Given the description of an element on the screen output the (x, y) to click on. 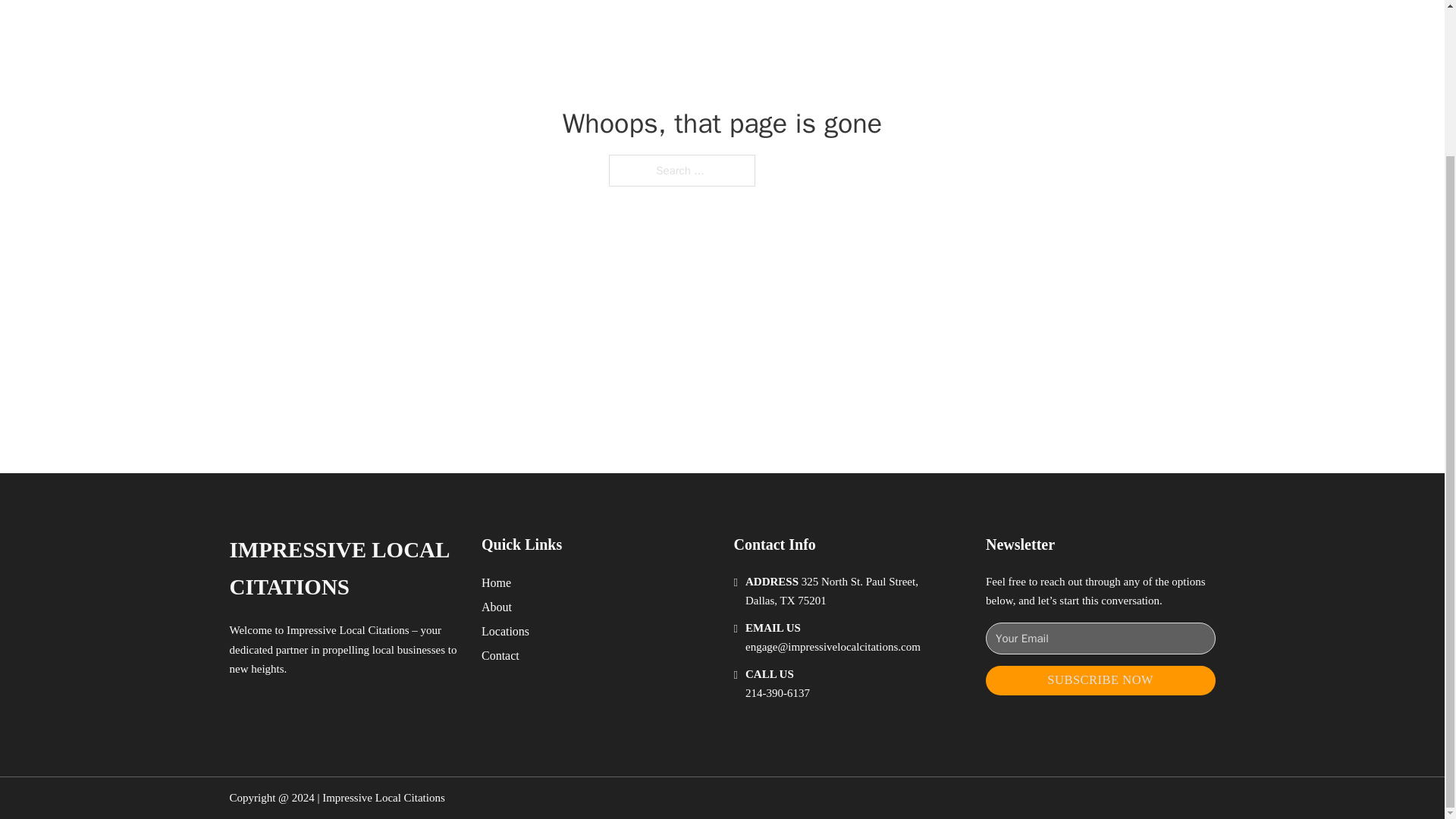
IMPRESSIVE LOCAL CITATIONS (343, 568)
Locations (505, 630)
214-390-6137 (777, 693)
Home (496, 582)
SUBSCRIBE NOW (1100, 680)
Contact (500, 655)
About (496, 607)
